Given the description of an element on the screen output the (x, y) to click on. 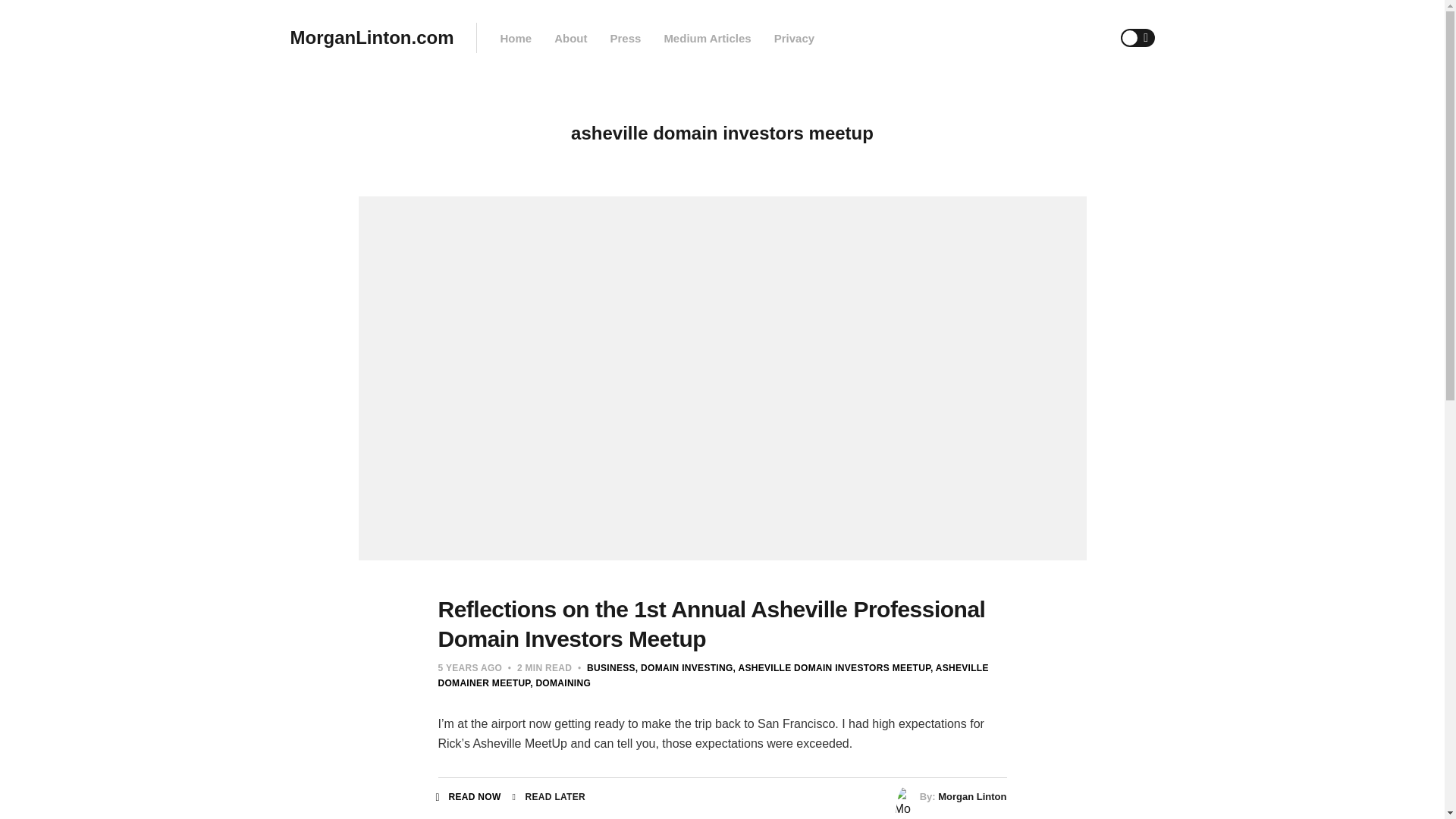
About (570, 38)
DOMAINING (560, 683)
Domain Investing (683, 667)
Medium Articles (707, 38)
READ LATER (548, 796)
Morgan Linton (971, 796)
Privacy (793, 38)
Home (515, 38)
ASHEVILLE DOMAINER MEETUP (713, 675)
ASHEVILLE DOMAIN INVESTORS MEETUP (831, 667)
